Given the description of an element on the screen output the (x, y) to click on. 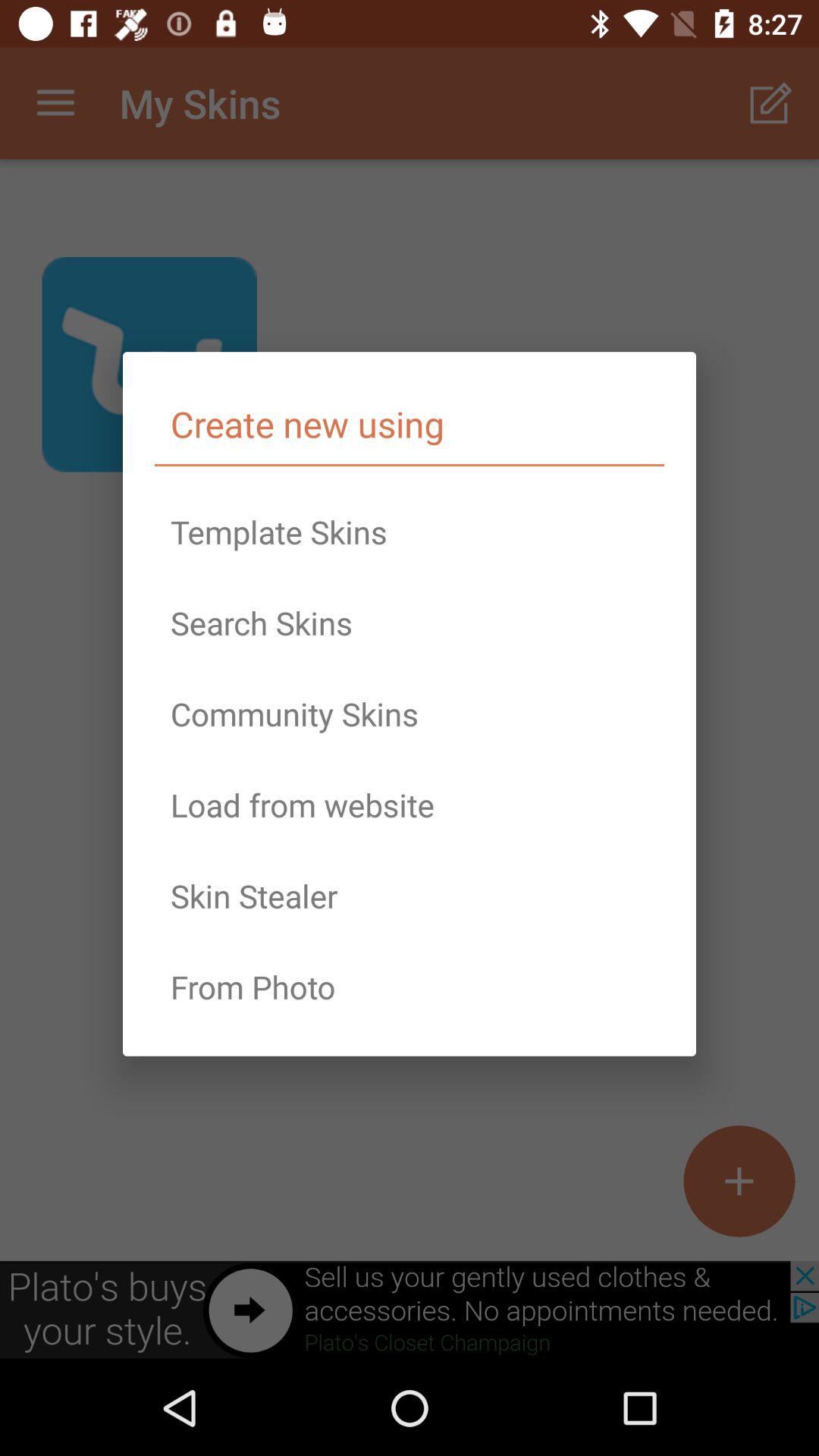
click the skin stealer (409, 895)
